Given the description of an element on the screen output the (x, y) to click on. 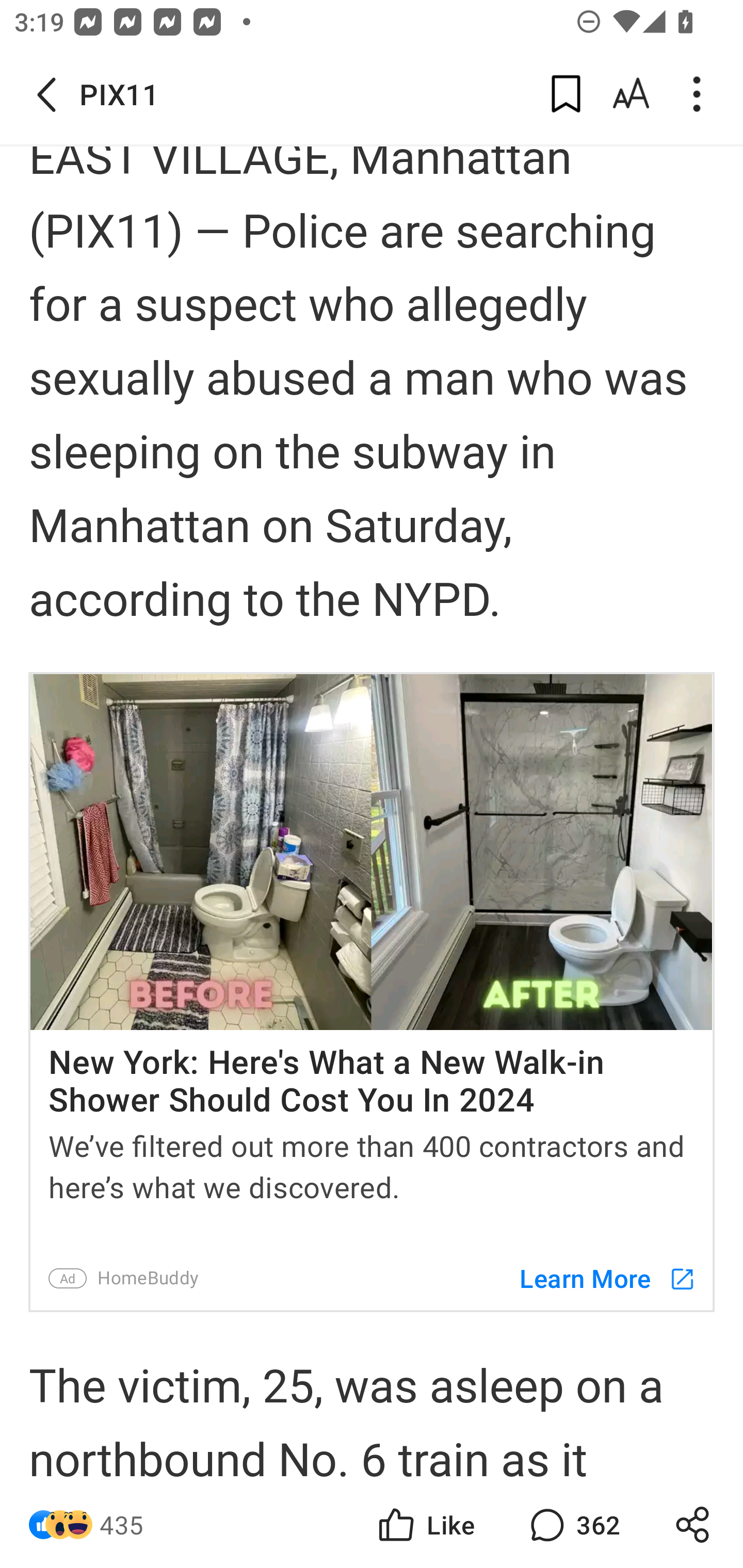
Learn More (597, 1278)
HomeBuddy (148, 1278)
435 (121, 1524)
Like (425, 1524)
362 (572, 1524)
